Given the description of an element on the screen output the (x, y) to click on. 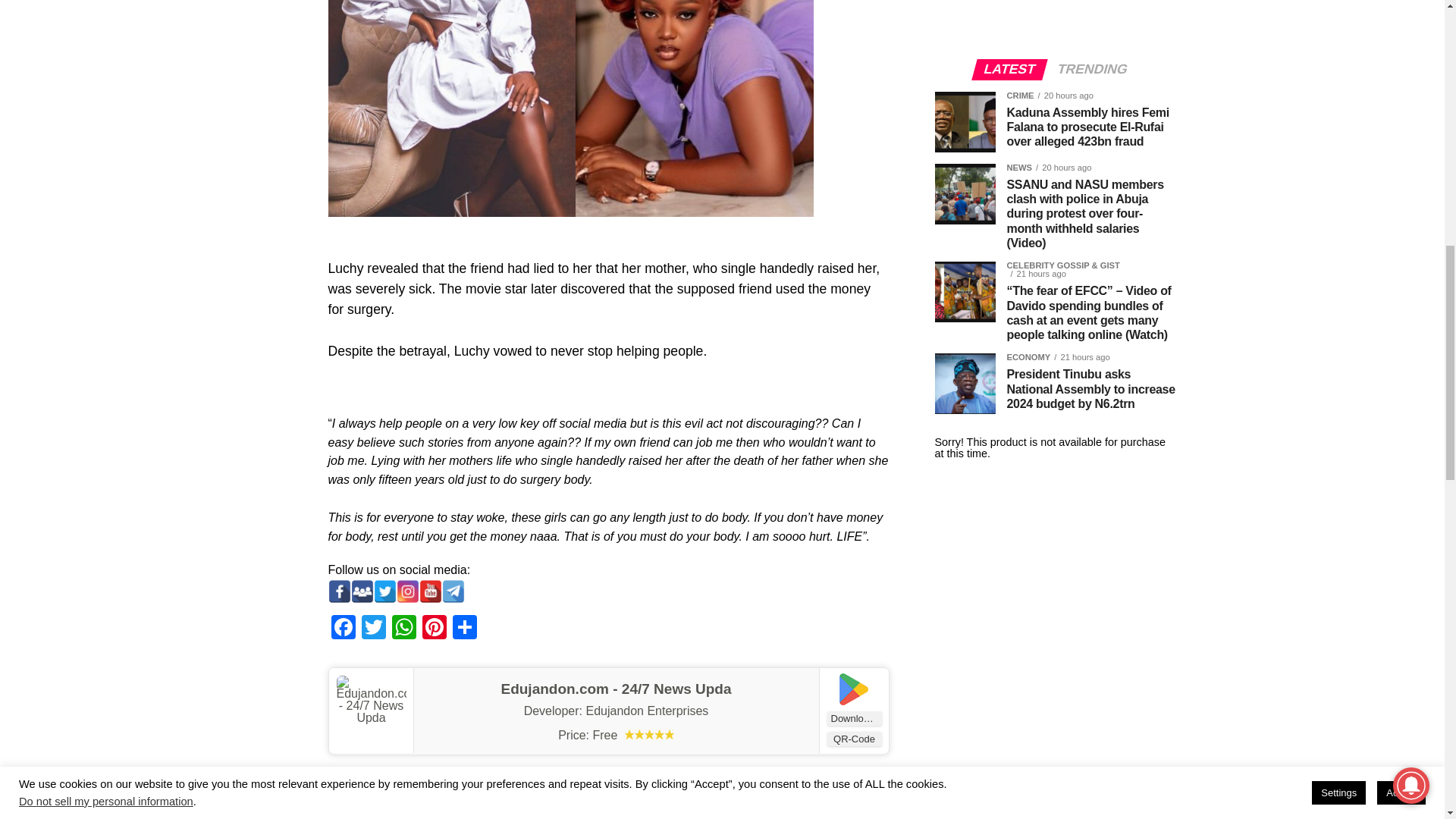
WhatsApp (403, 628)
Twitter (373, 628)
Facebook (342, 628)
